Given the description of an element on the screen output the (x, y) to click on. 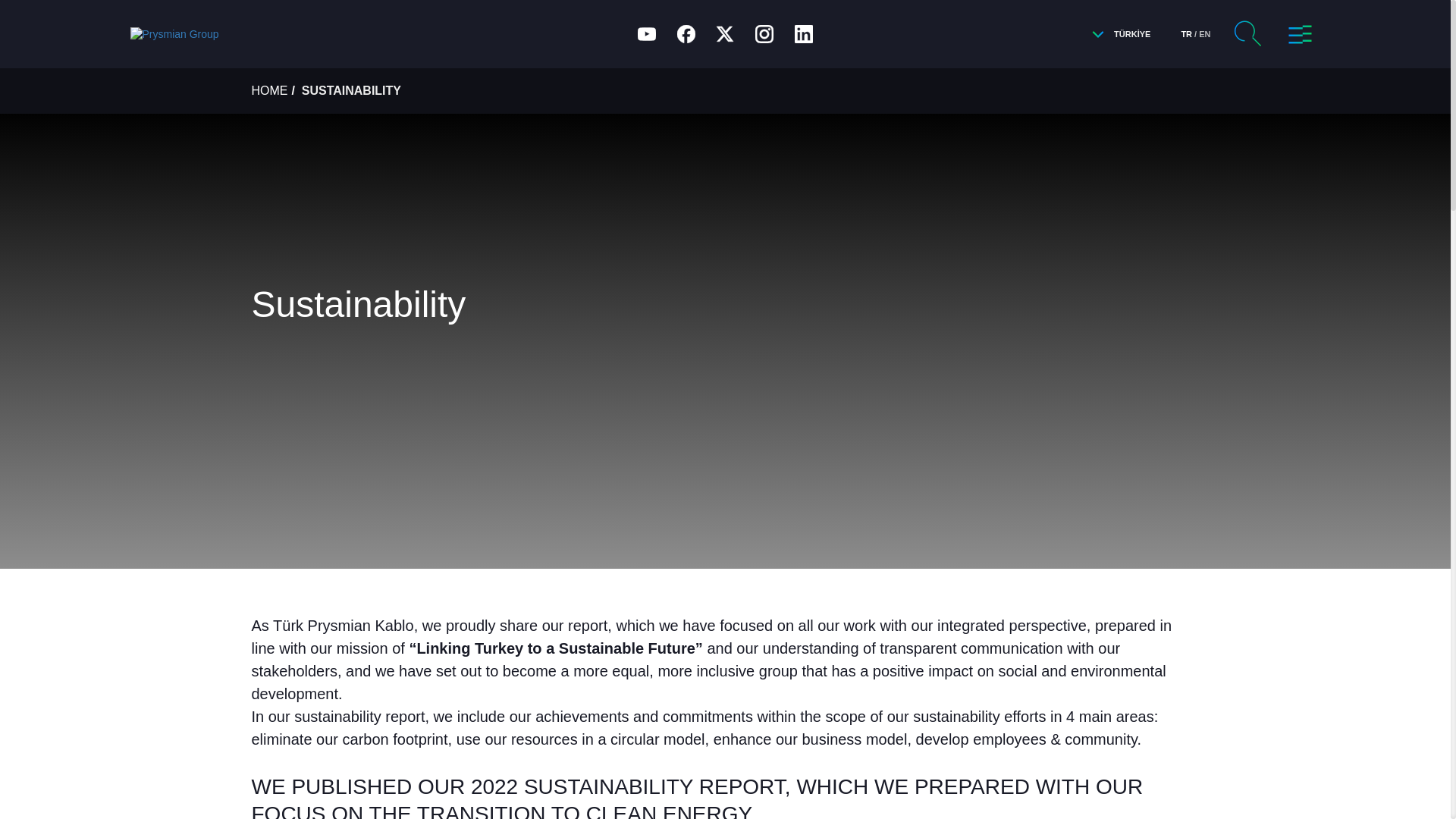
YouTube (646, 33)
LinkedIn (804, 33)
Instagram (764, 33)
Home (273, 34)
Facebook (686, 33)
Twitter (724, 33)
